Given the description of an element on the screen output the (x, y) to click on. 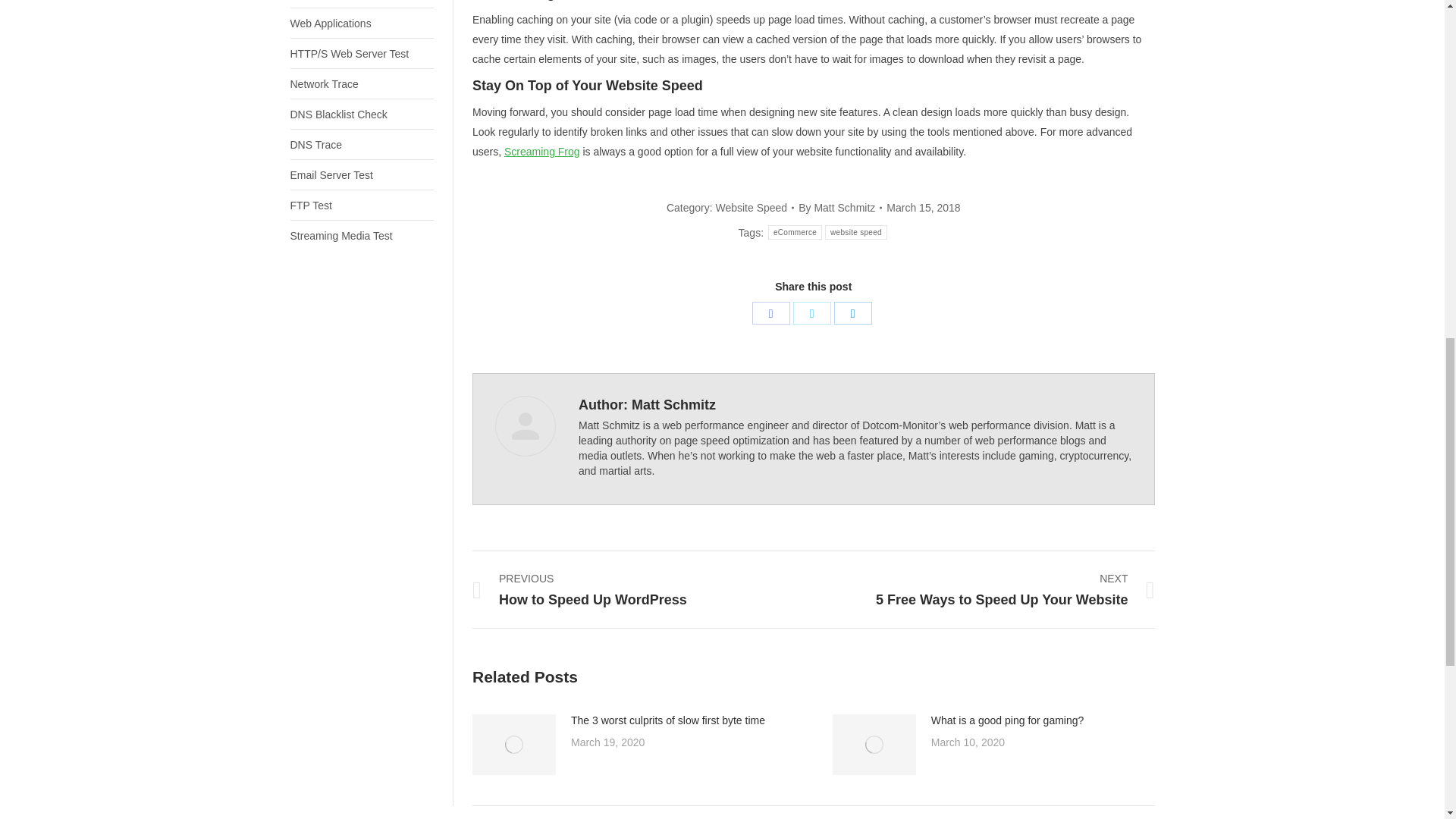
Twitter (812, 313)
10:57 am (922, 207)
Facebook (771, 313)
LinkedIn (853, 313)
View all posts by Matt Schmitz (839, 207)
